Given the description of an element on the screen output the (x, y) to click on. 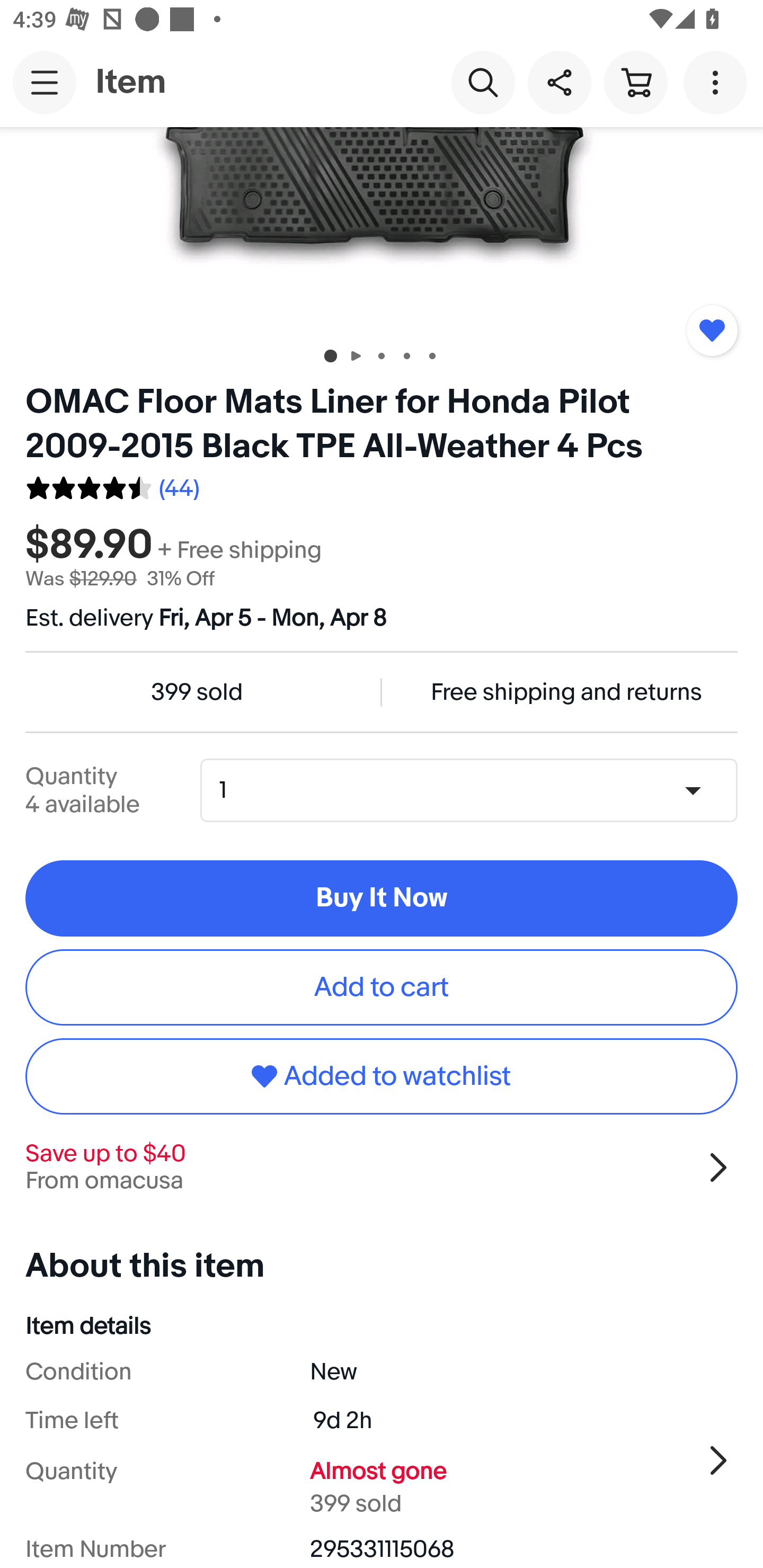
Main navigation, open (44, 82)
Search (482, 81)
Share this item (559, 81)
Cart button shopping cart (635, 81)
More options (718, 81)
Item image 1 of 13 (381, 228)
Added to watchlist (711, 329)
Quantity,1,4 available 1 (474, 790)
Buy It Now (381, 898)
Add to cart (381, 986)
Added to watchlist (381, 1076)
Save up to $40 From omacusa (381, 1166)
